Given the description of an element on the screen output the (x, y) to click on. 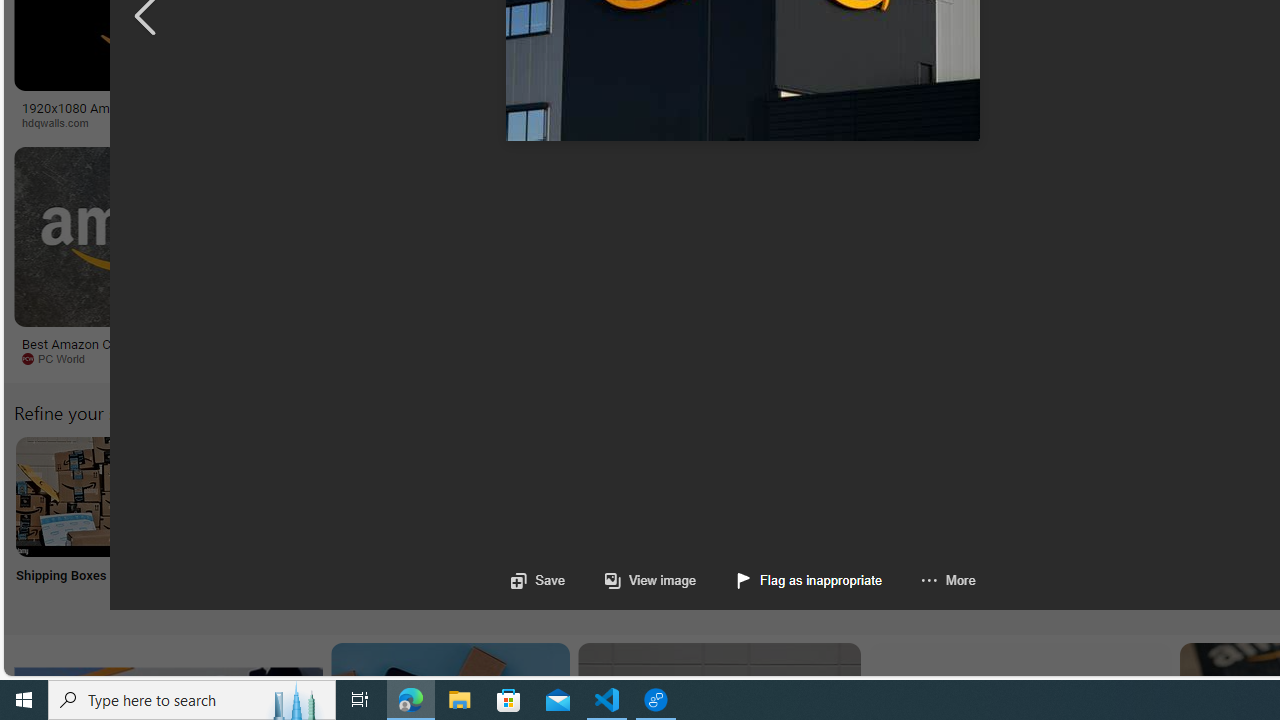
Amazon Online Shopping Search Online Shopping Search (207, 521)
Flag as inappropriate (789, 580)
Amazon Clip Art Clip Art (339, 521)
Amazon Retail Store (867, 496)
hdqwalls.com (167, 123)
thewrap.com (937, 359)
thewrap.com (826, 358)
GOBankingRates (485, 123)
Clip Art (339, 521)
Amazon Shipping Boxes (75, 496)
View image (650, 580)
